Given the description of an element on the screen output the (x, y) to click on. 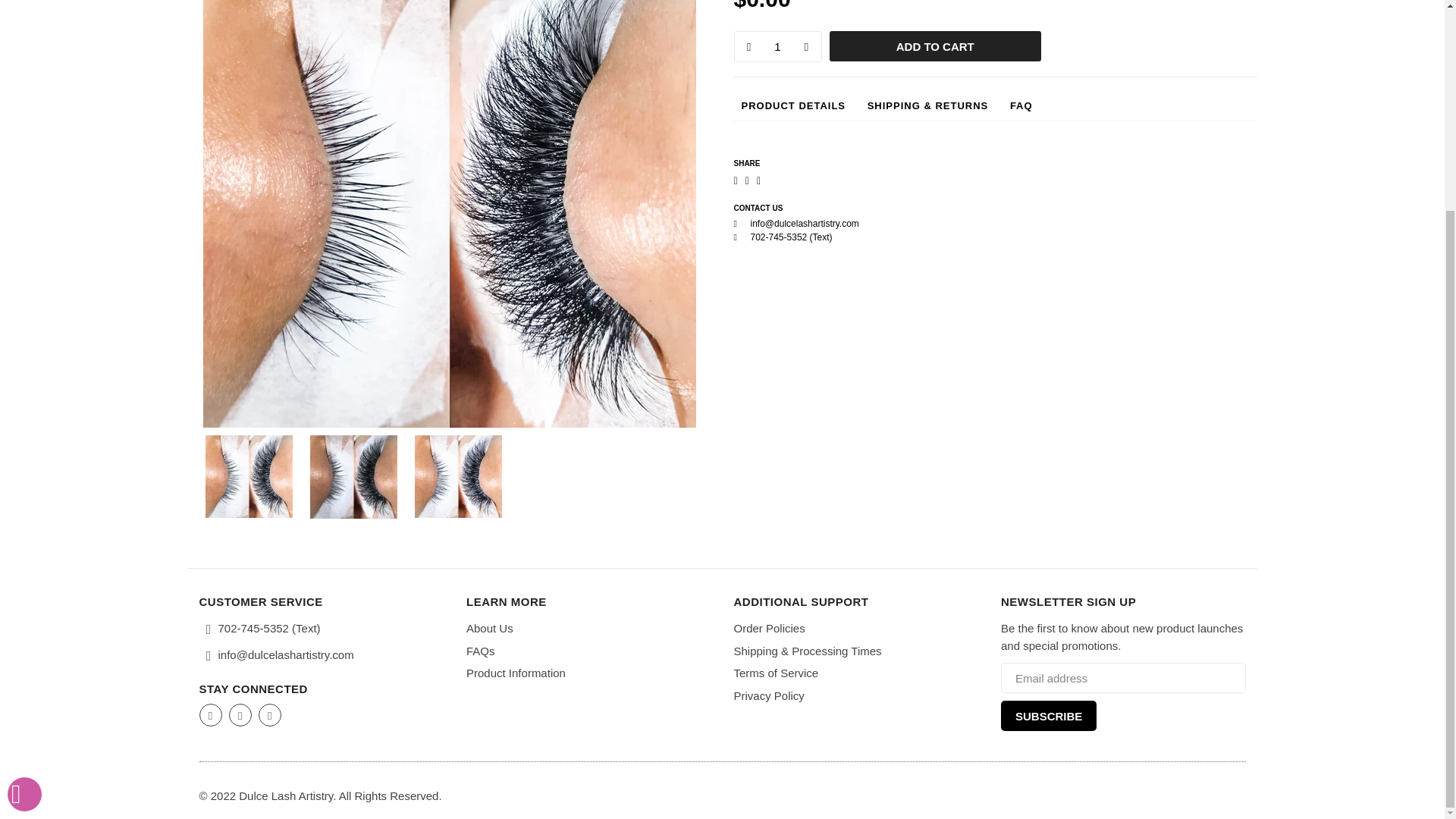
Pin on Pinterest (759, 181)
Share on Facebook (735, 181)
Quantity (777, 46)
Dulce Lash Artistry on Facebook (209, 714)
Tweet on Twitter (747, 181)
Dulce Lash Artistry on YouTube (270, 714)
Dulce Lash Artistry on Instagram (239, 714)
1 (777, 46)
